Given the description of an element on the screen output the (x, y) to click on. 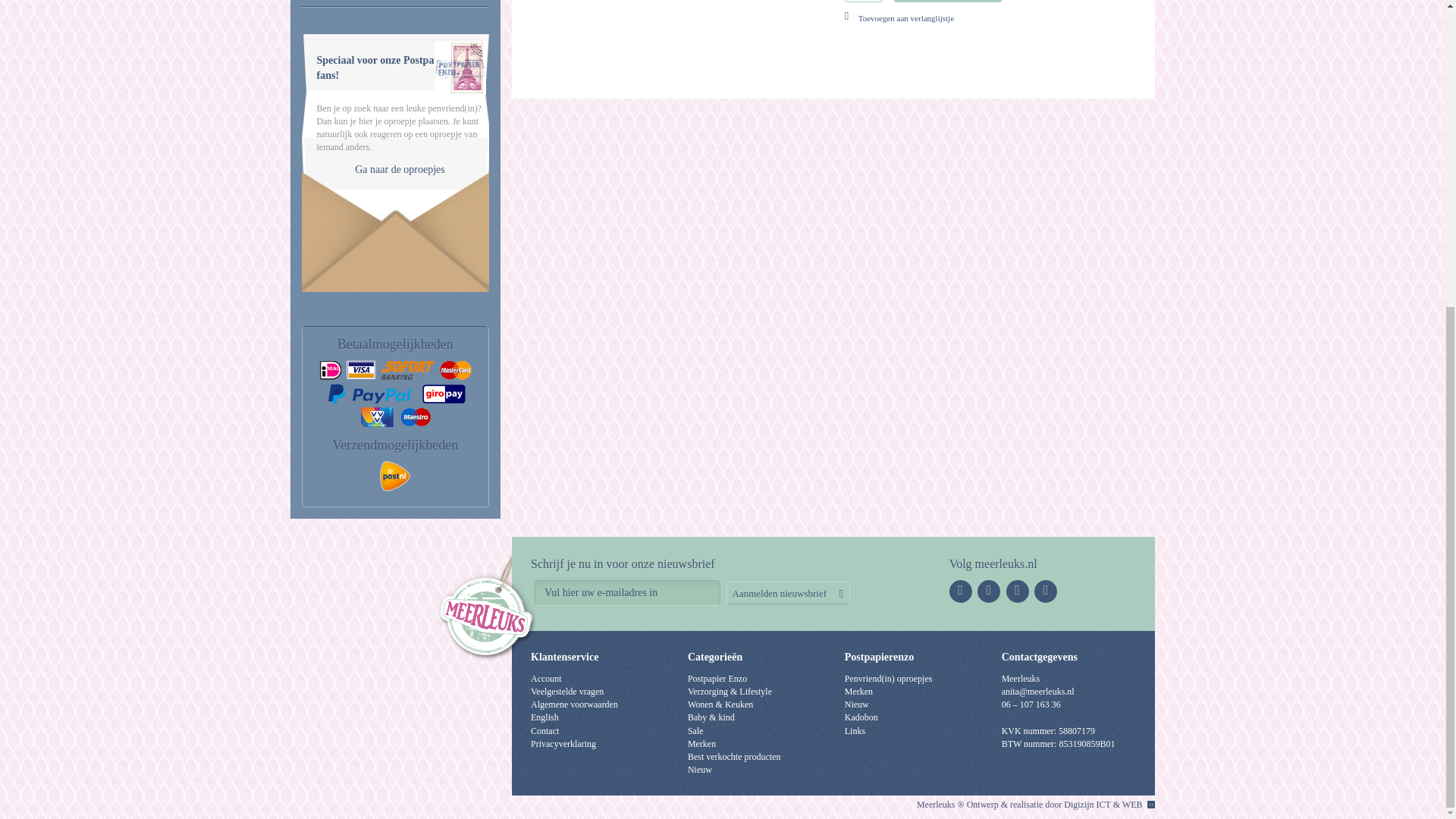
1 (863, 1)
